Given the description of an element on the screen output the (x, y) to click on. 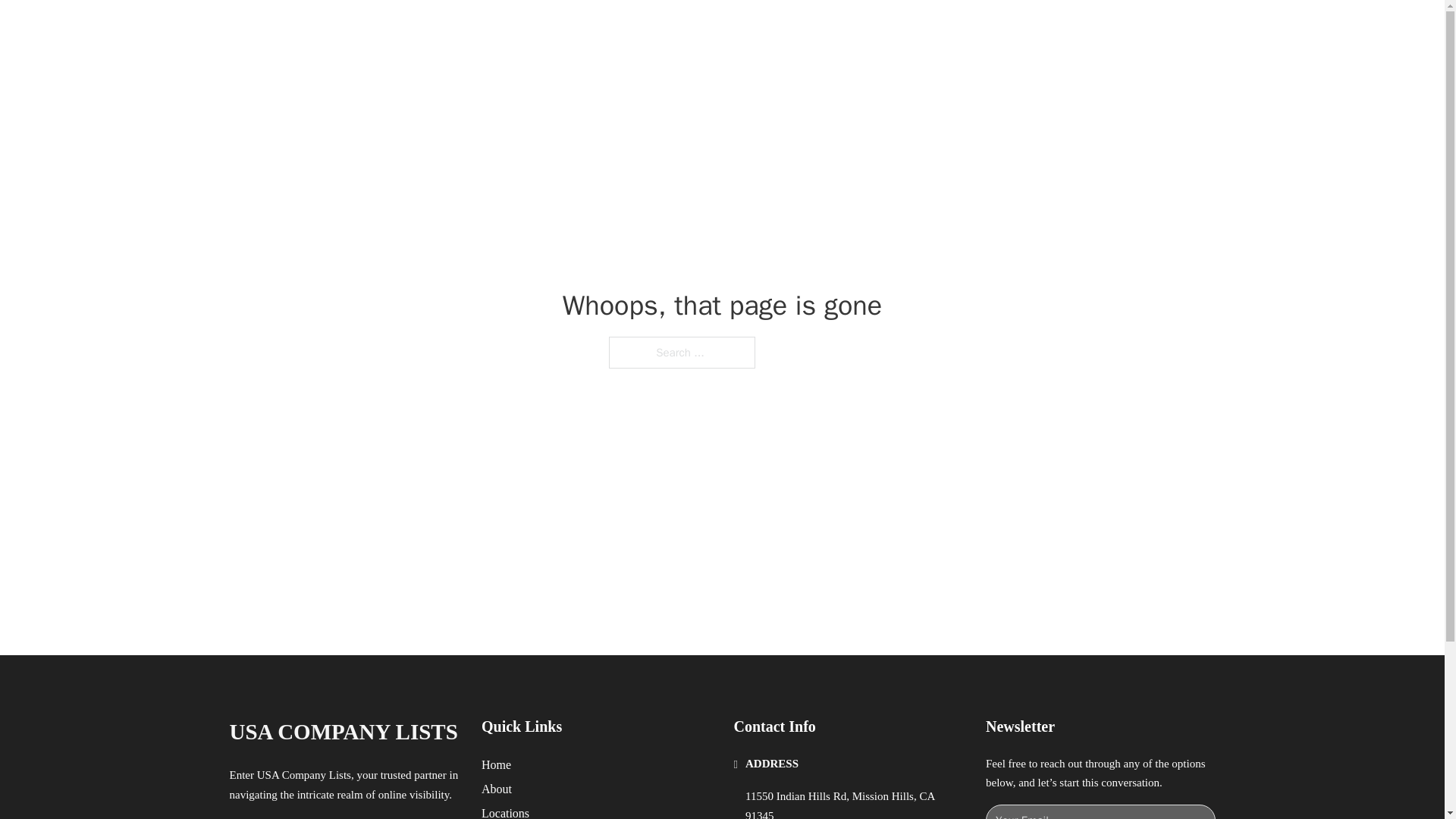
Home (496, 764)
USA COMPANY LISTS (416, 28)
About (496, 788)
HOME (919, 29)
USA COMPANY LISTS (342, 732)
Locations (505, 811)
LOCATIONS (990, 29)
